Given the description of an element on the screen output the (x, y) to click on. 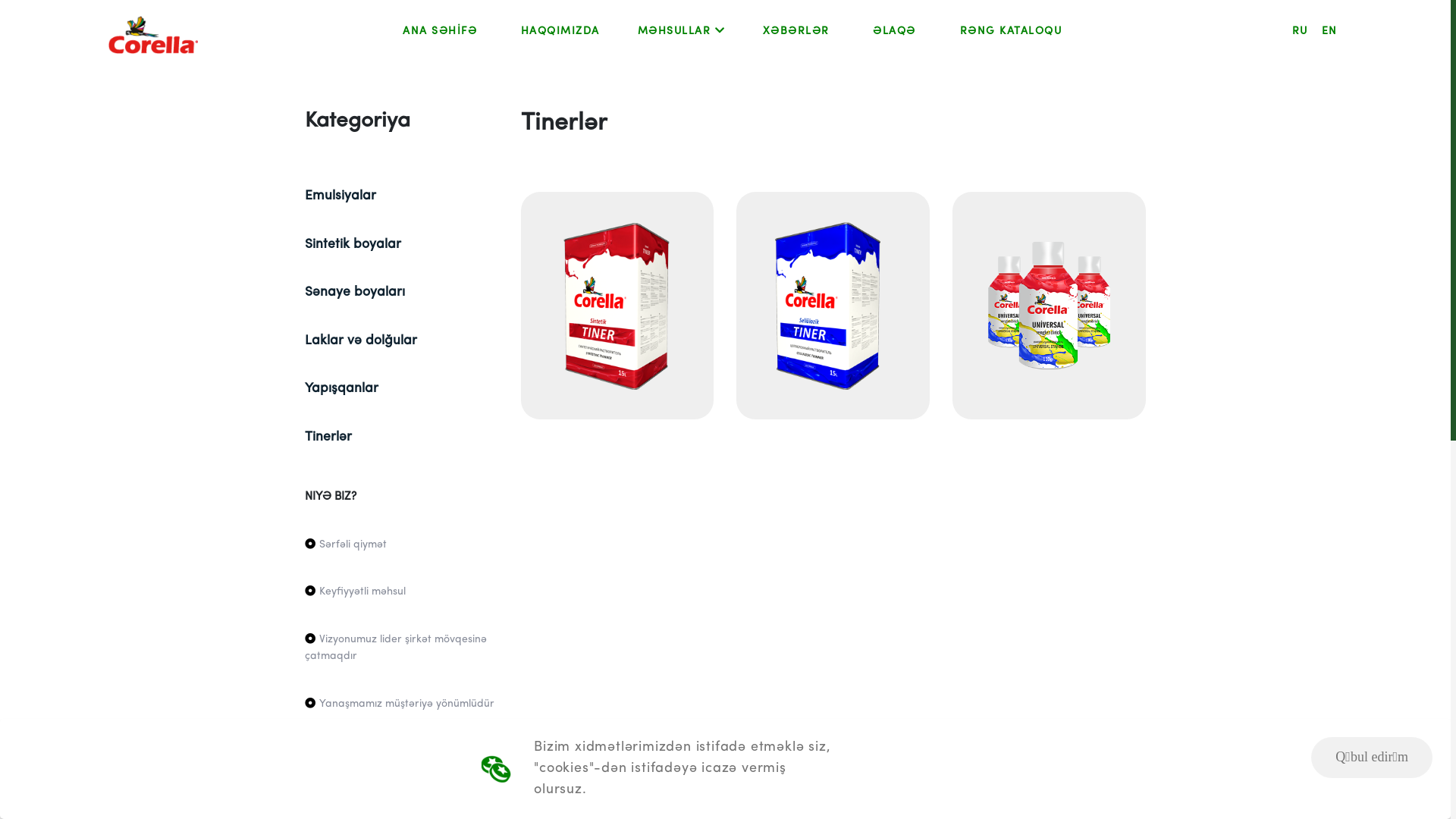
EN Element type: text (1329, 31)
Sintetik boyalar Element type: text (352, 244)
RU Element type: text (1300, 31)
HAQQIMIZDA Element type: text (559, 31)
Emulsiyalar Element type: text (340, 195)
